Given the description of an element on the screen output the (x, y) to click on. 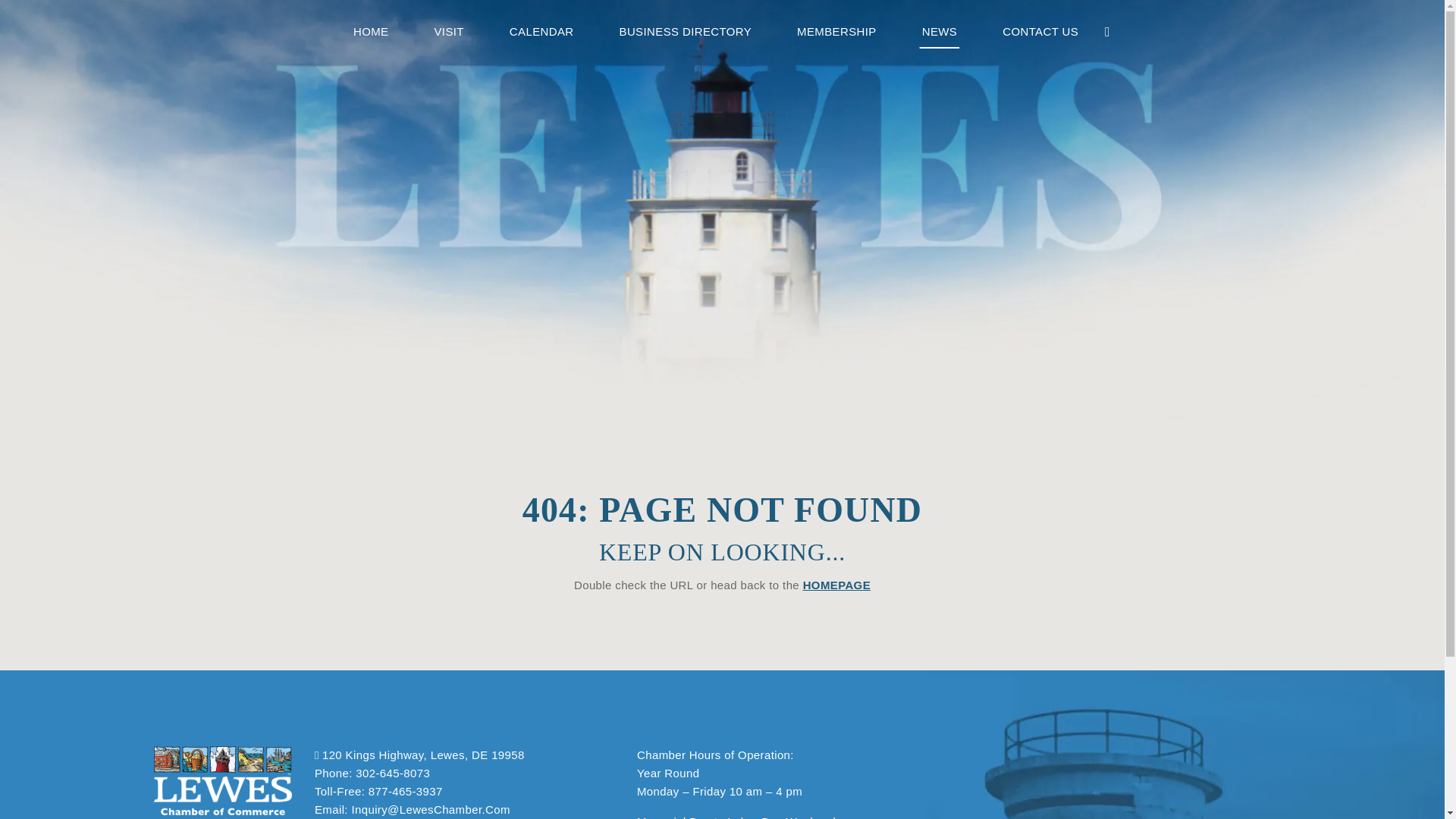
CALENDAR (541, 31)
VISIT (448, 31)
HOME (371, 31)
BUSINESS DIRECTORY (685, 31)
